Given the description of an element on the screen output the (x, y) to click on. 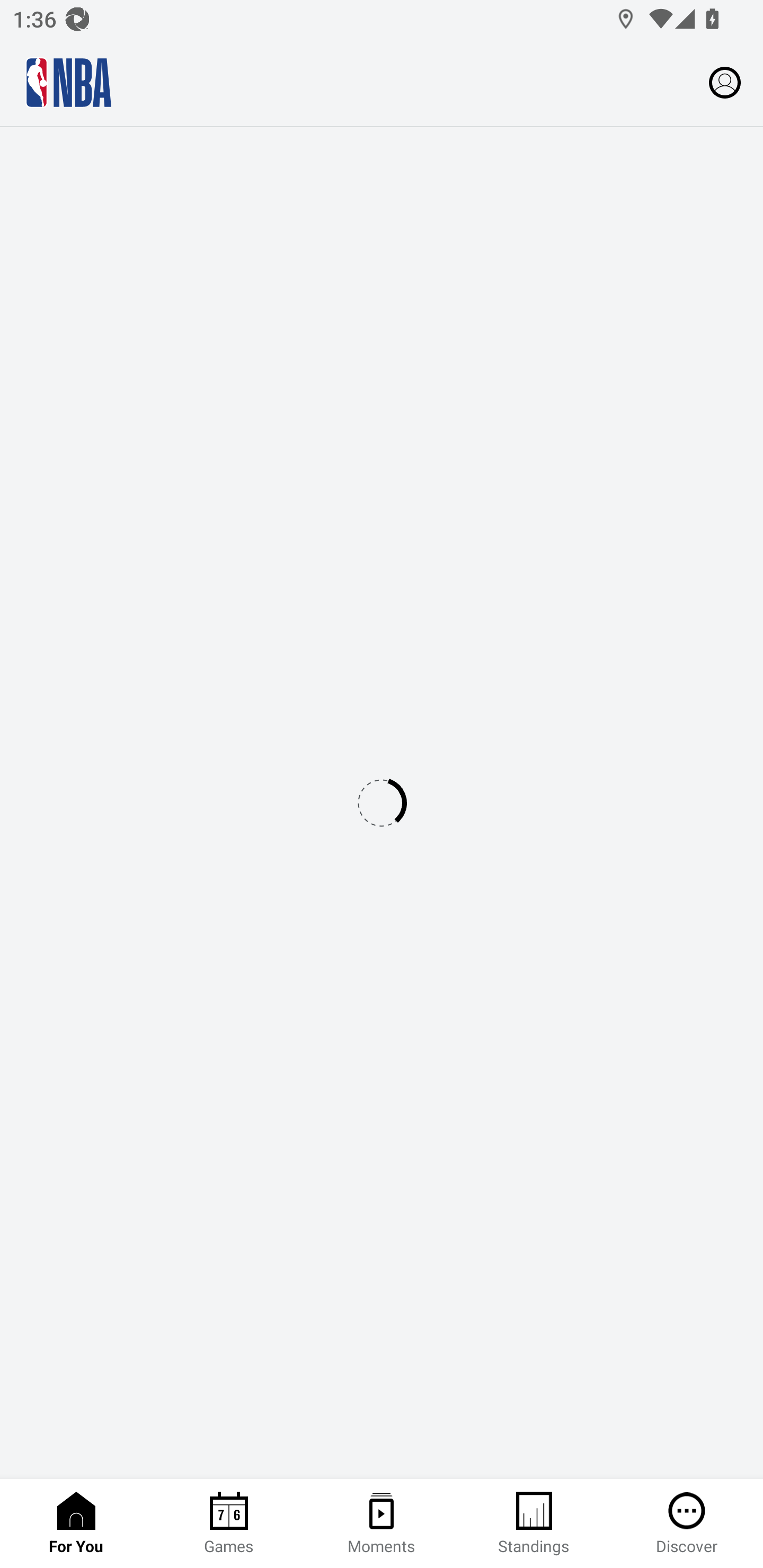
Profile (724, 81)
Games (228, 1523)
Moments (381, 1523)
Standings (533, 1523)
Discover (686, 1523)
